Given the description of an element on the screen output the (x, y) to click on. 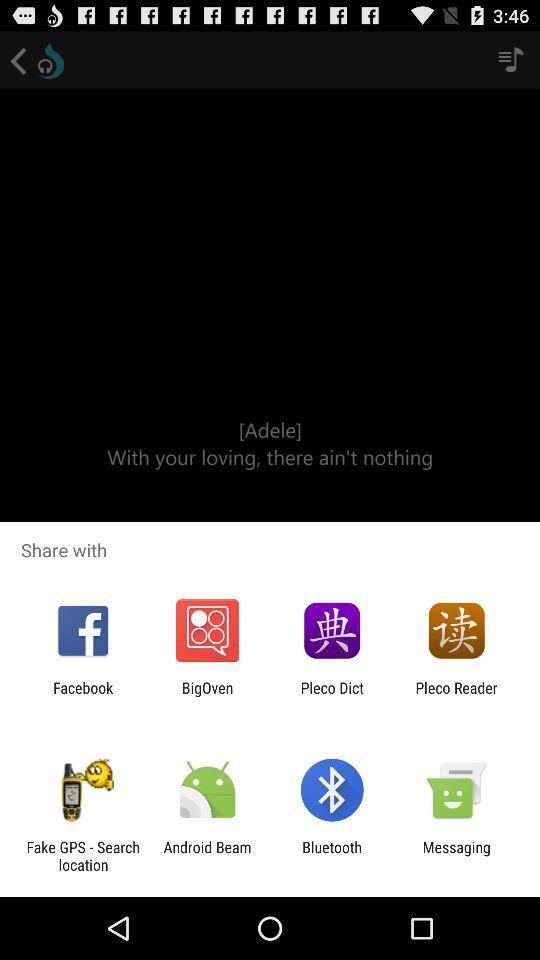
tap the pleco dict (331, 696)
